Given the description of an element on the screen output the (x, y) to click on. 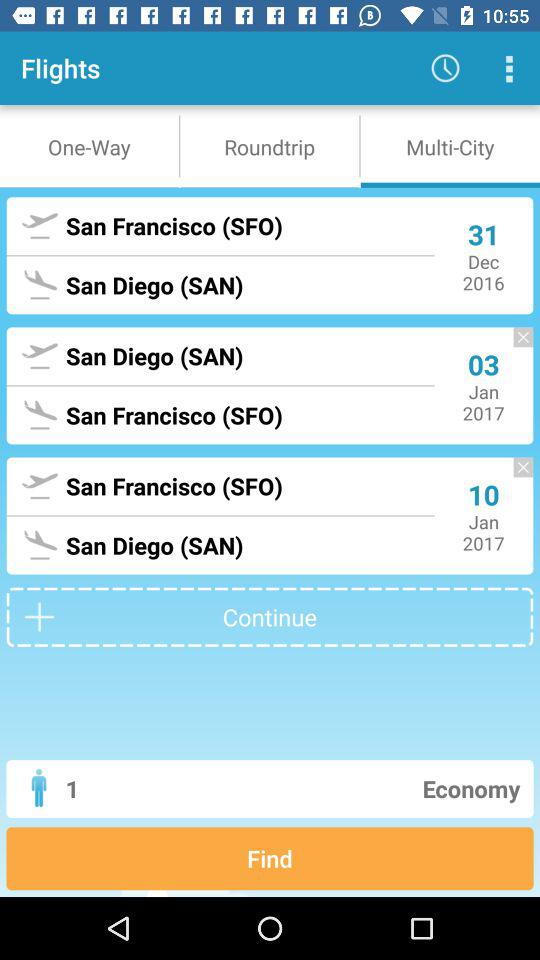
launch the icon to the right of flights item (444, 67)
